Given the description of an element on the screen output the (x, y) to click on. 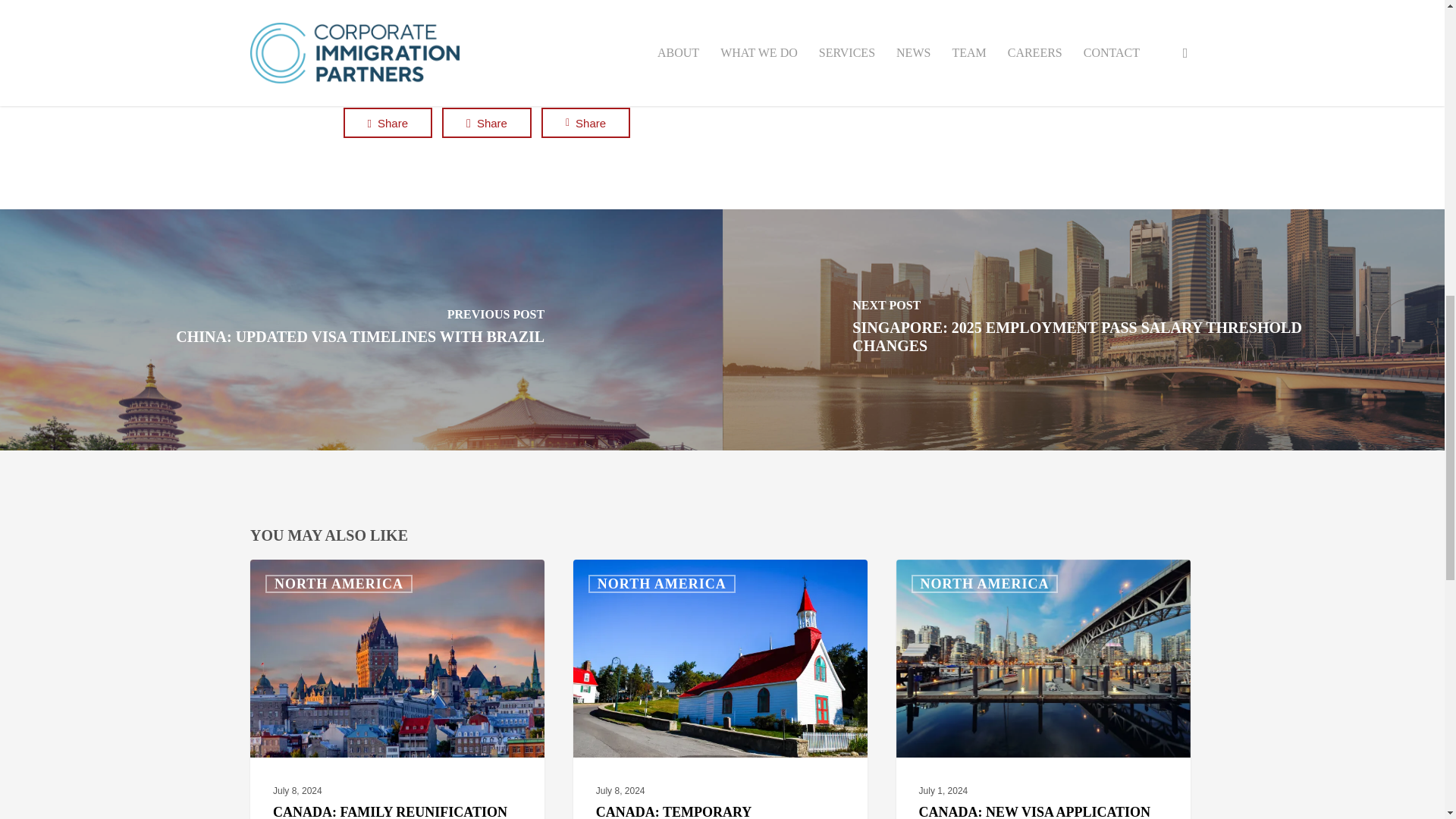
Share this (387, 122)
Share (585, 122)
NORTH AMERICA (338, 583)
Canada: New Visa Application Centres in Mexico (1043, 689)
Share (387, 122)
Share (486, 122)
Share this (486, 122)
NORTH AMERICA (661, 583)
NORTH AMERICA (984, 583)
Share this (585, 122)
Iran (461, 20)
Canada: Family Reunification Cap Introduced in Quebec (397, 689)
Canada (424, 20)
Temporary Residents (527, 20)
